Given the description of an element on the screen output the (x, y) to click on. 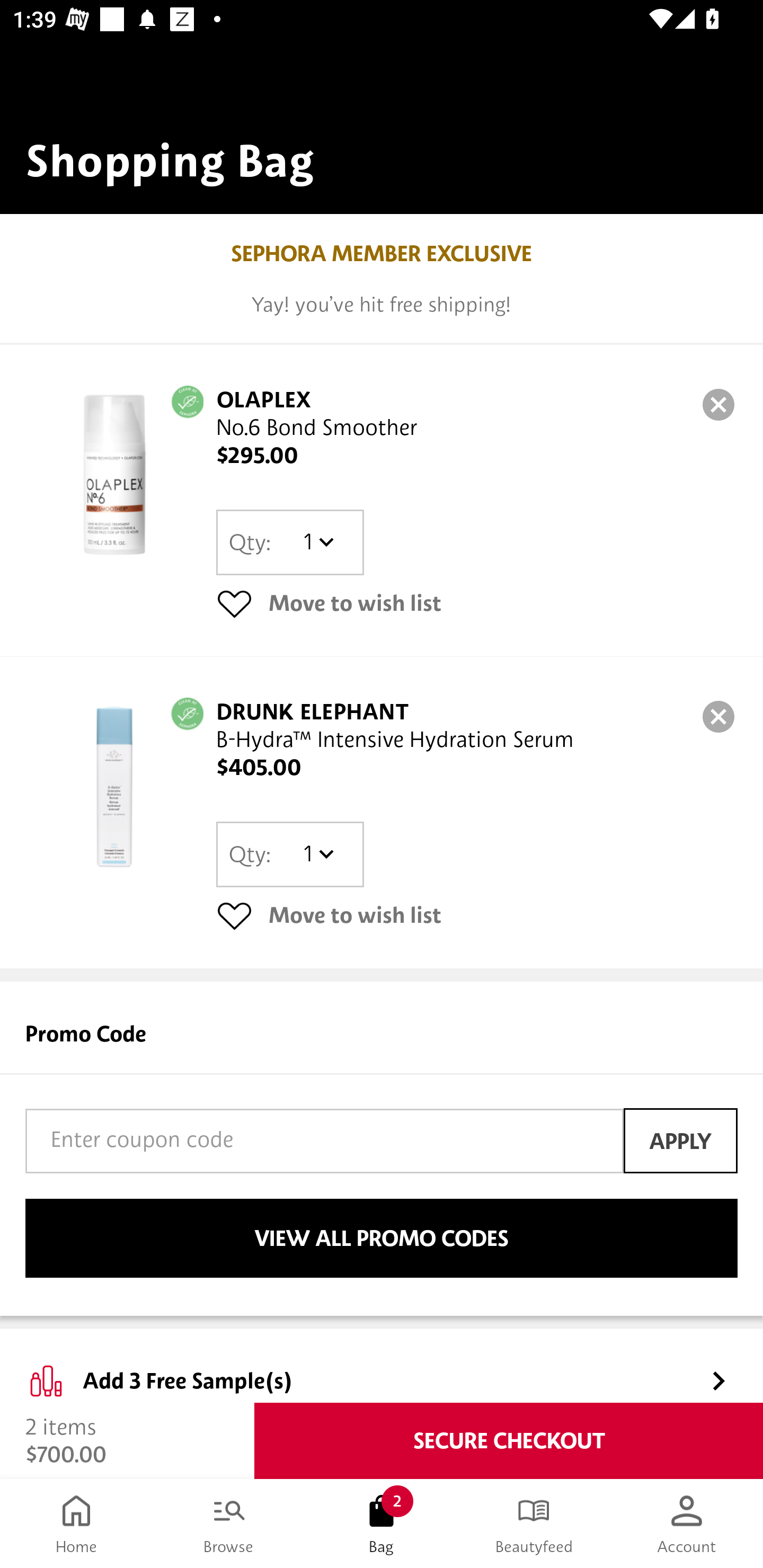
1 (317, 542)
Move to wish list (476, 602)
1 (317, 854)
Move to wish list (476, 914)
APPLY (680, 1140)
Enter coupon code (324, 1140)
VIEW ALL PROMO CODES (381, 1238)
Add 3 Free Sample(s) (381, 1365)
SECURE CHECKOUT (508, 1440)
Home (76, 1523)
Browse (228, 1523)
Beautyfeed (533, 1523)
Account (686, 1523)
